Given the description of an element on the screen output the (x, y) to click on. 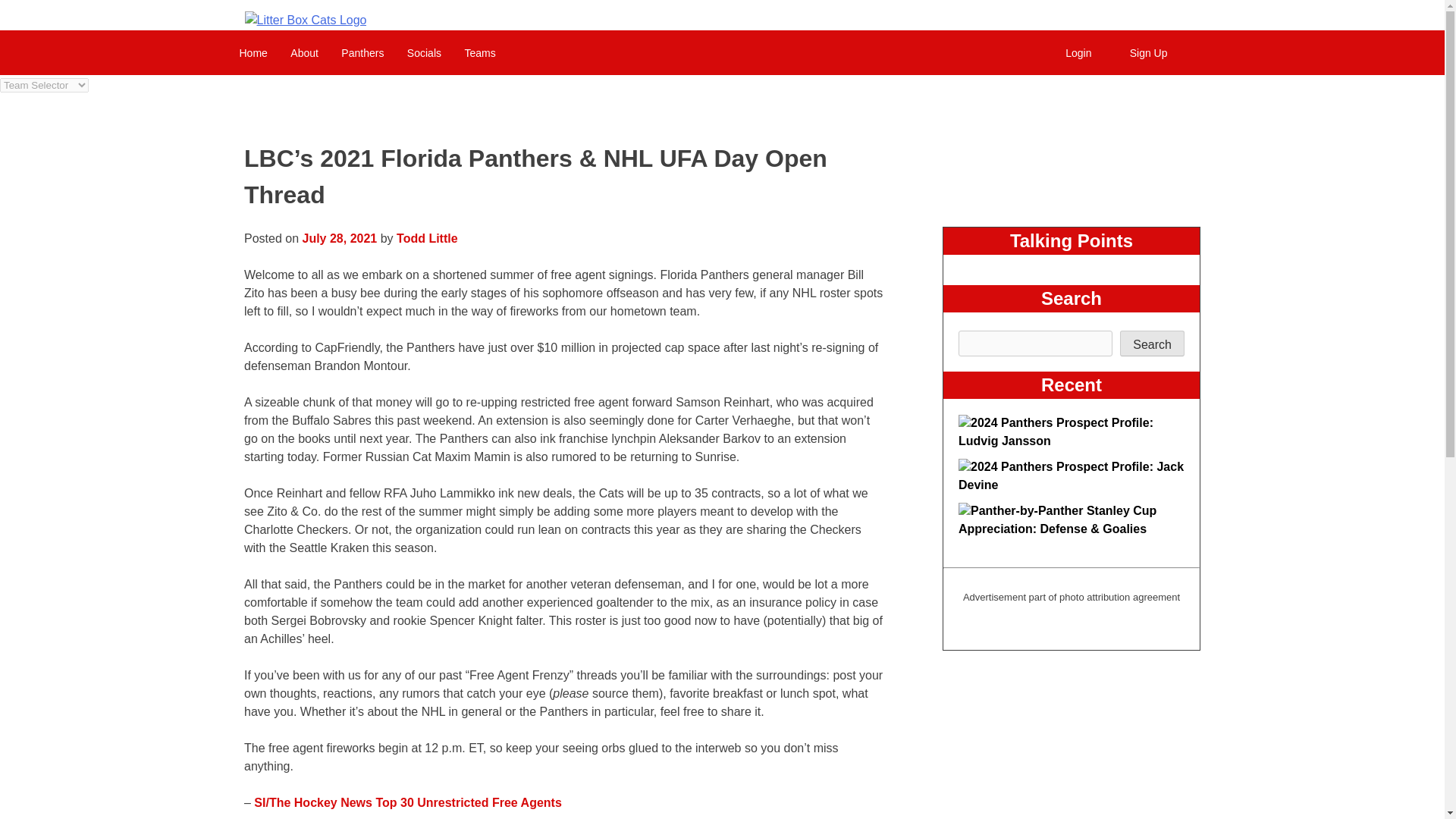
Home (252, 52)
Panthers (362, 52)
Litter Box Cats (305, 19)
Teams (479, 52)
Socials (424, 52)
About (305, 52)
